Given the description of an element on the screen output the (x, y) to click on. 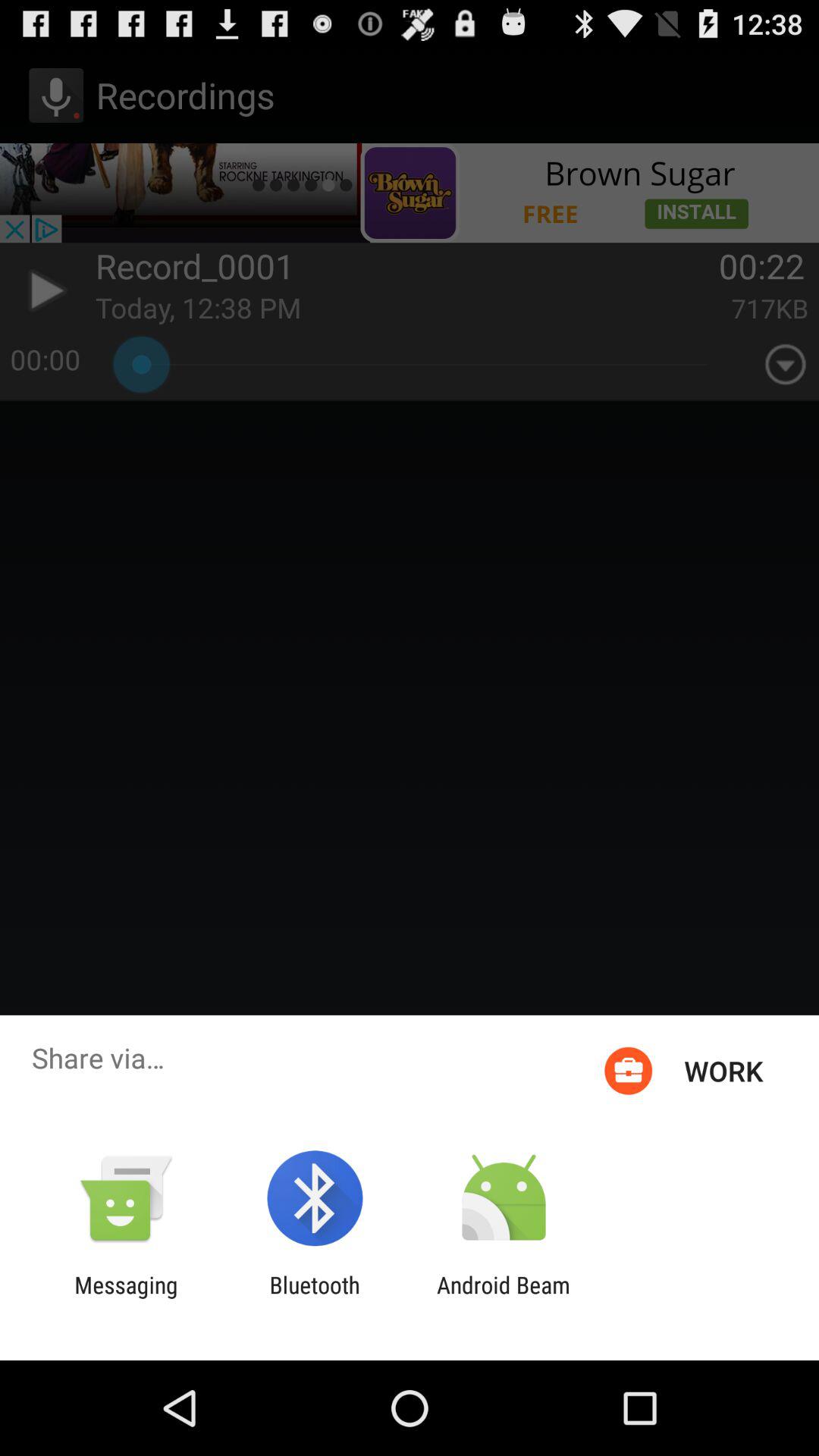
turn off the android beam icon (503, 1298)
